Given the description of an element on the screen output the (x, y) to click on. 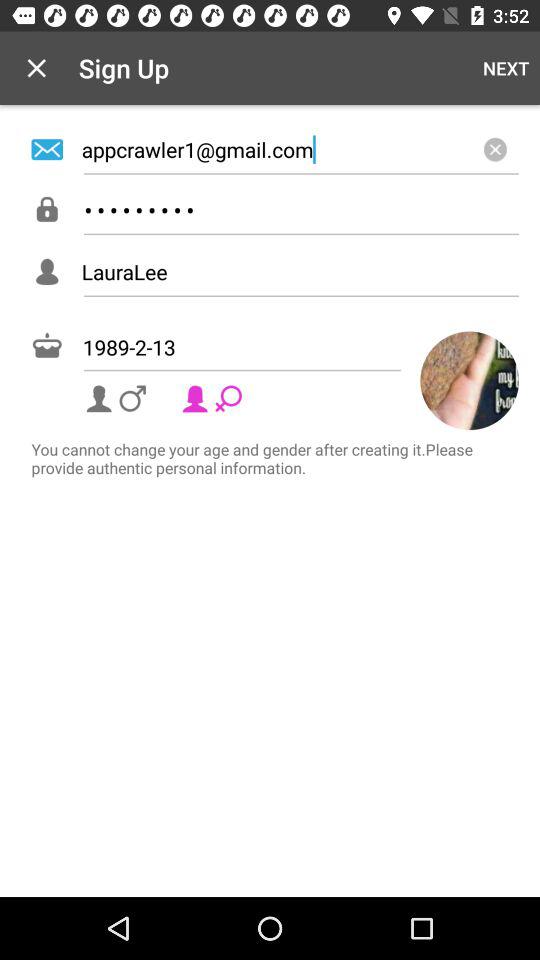
flip to appcrawler1@gmail.com icon (300, 149)
